Given the description of an element on the screen output the (x, y) to click on. 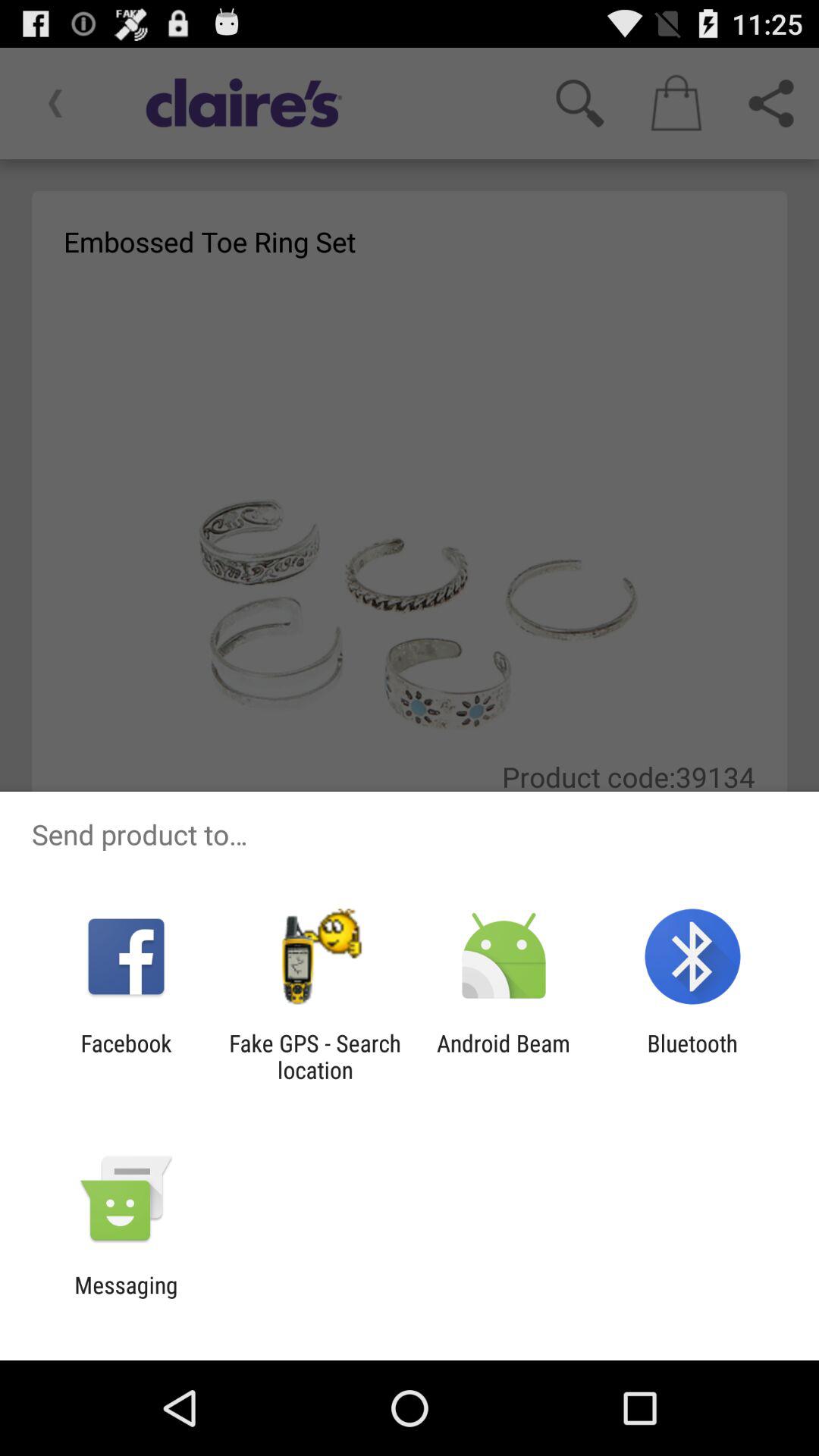
click the facebook icon (125, 1056)
